Given the description of an element on the screen output the (x, y) to click on. 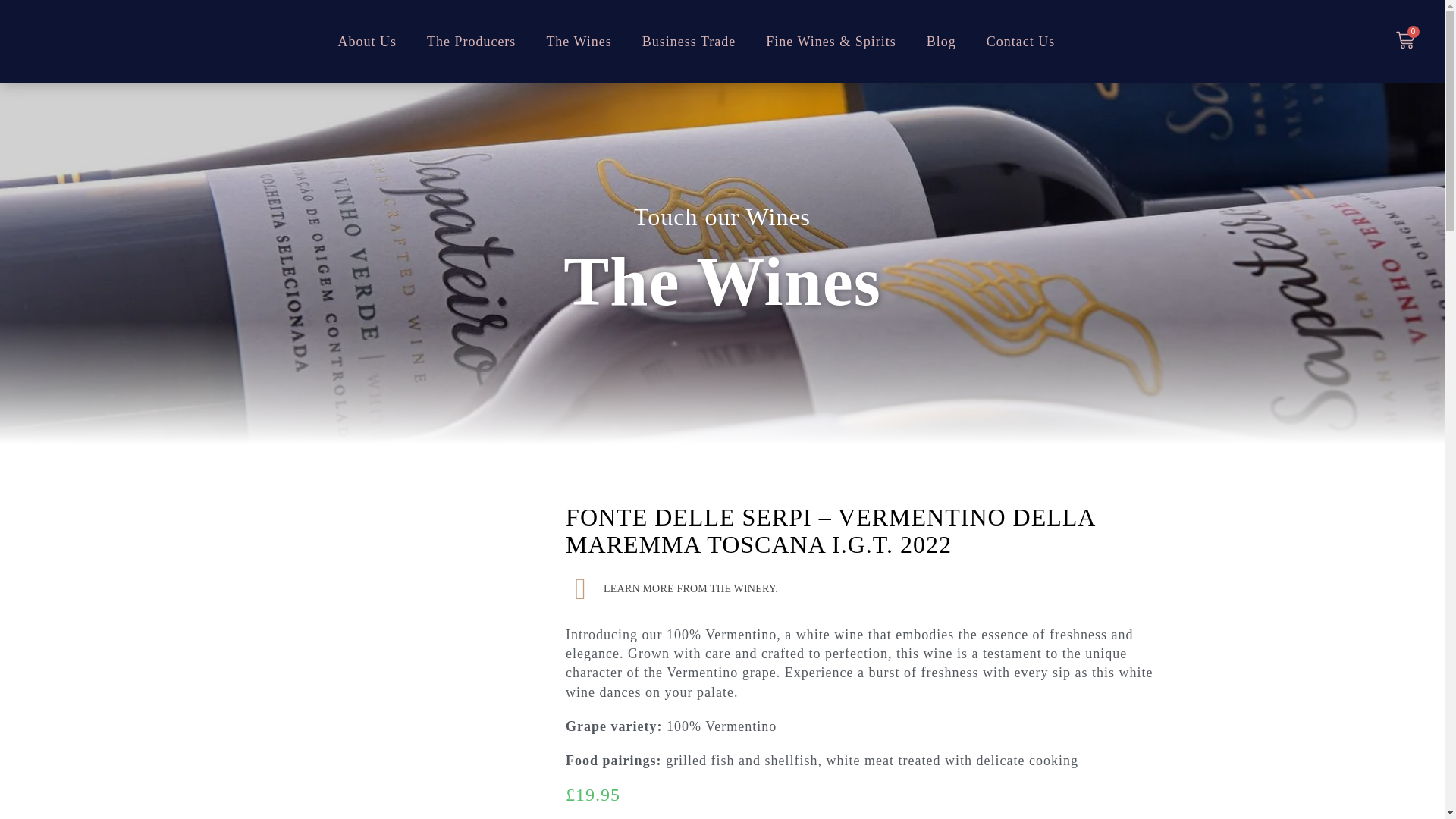
Contact Us (1020, 41)
0 (1404, 41)
Blog (941, 41)
The Wines (578, 41)
About Us (366, 41)
Business Trade (689, 41)
The Producers (471, 41)
